Given the description of an element on the screen output the (x, y) to click on. 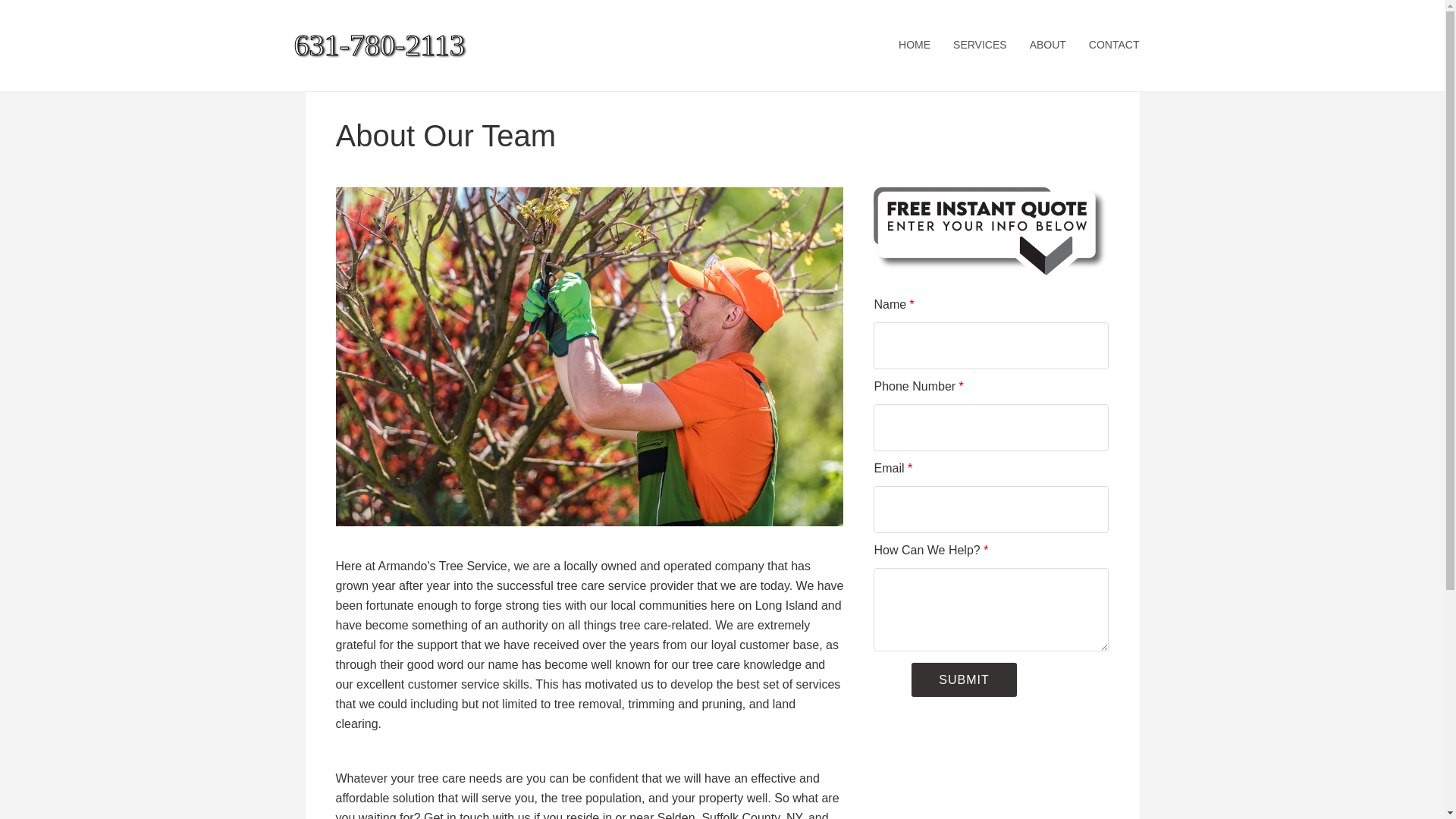
631-780-2113 (431, 44)
Submit (963, 679)
ABOUT (1047, 45)
Submit (963, 679)
HOME (914, 45)
CONTACT (1114, 45)
NEW Free Quote - Black (990, 235)
SERVICES (979, 45)
